Given the description of an element on the screen output the (x, y) to click on. 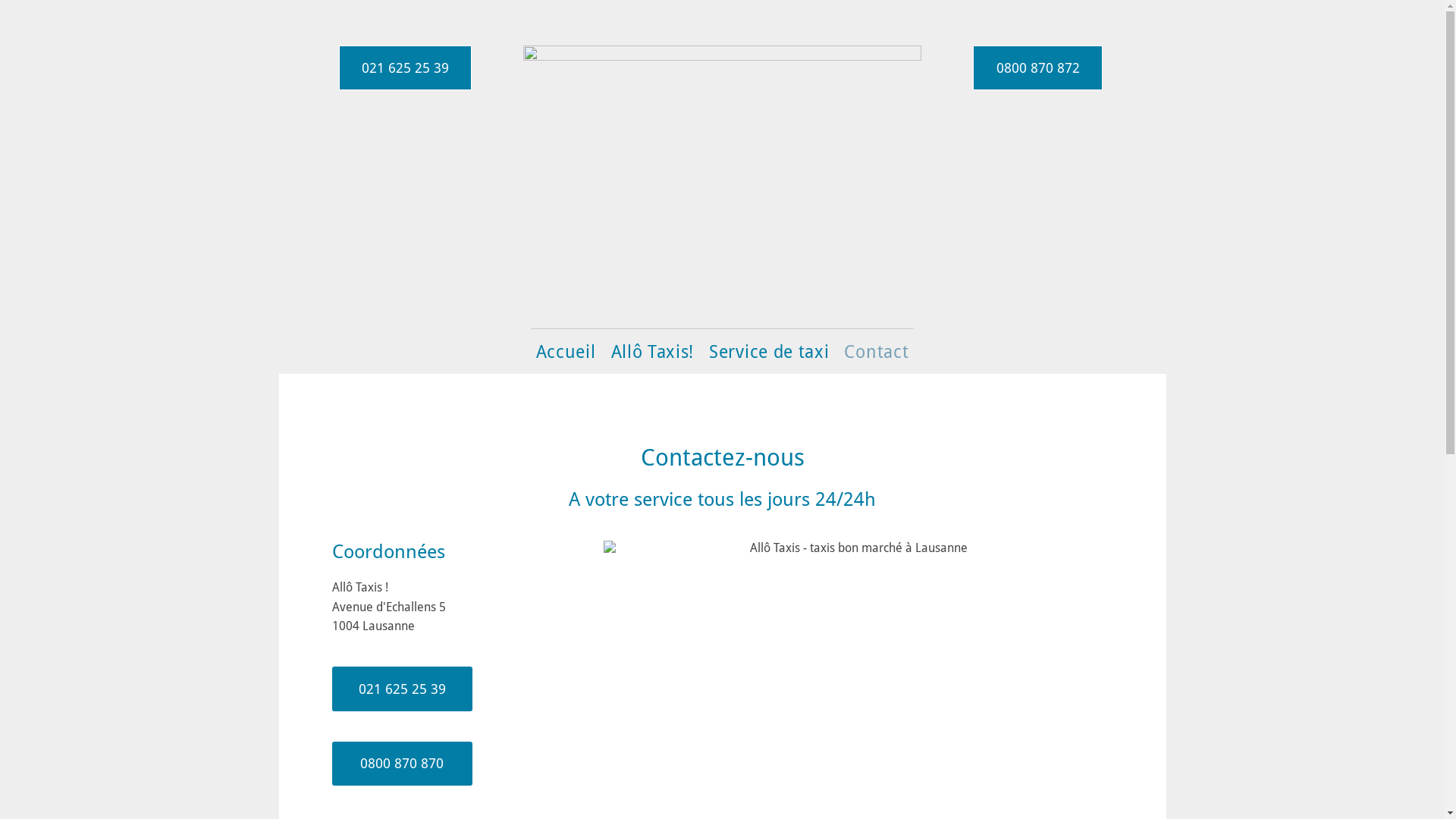
Accueil Element type: text (566, 352)
0800 870 872 Element type: text (1037, 67)
Contact Element type: text (876, 352)
0800 870 870 Element type: text (402, 763)
021 625 25 39 Element type: text (404, 67)
021 625 25 39 Element type: text (402, 688)
Service de taxi Element type: text (768, 352)
